Given the description of an element on the screen output the (x, y) to click on. 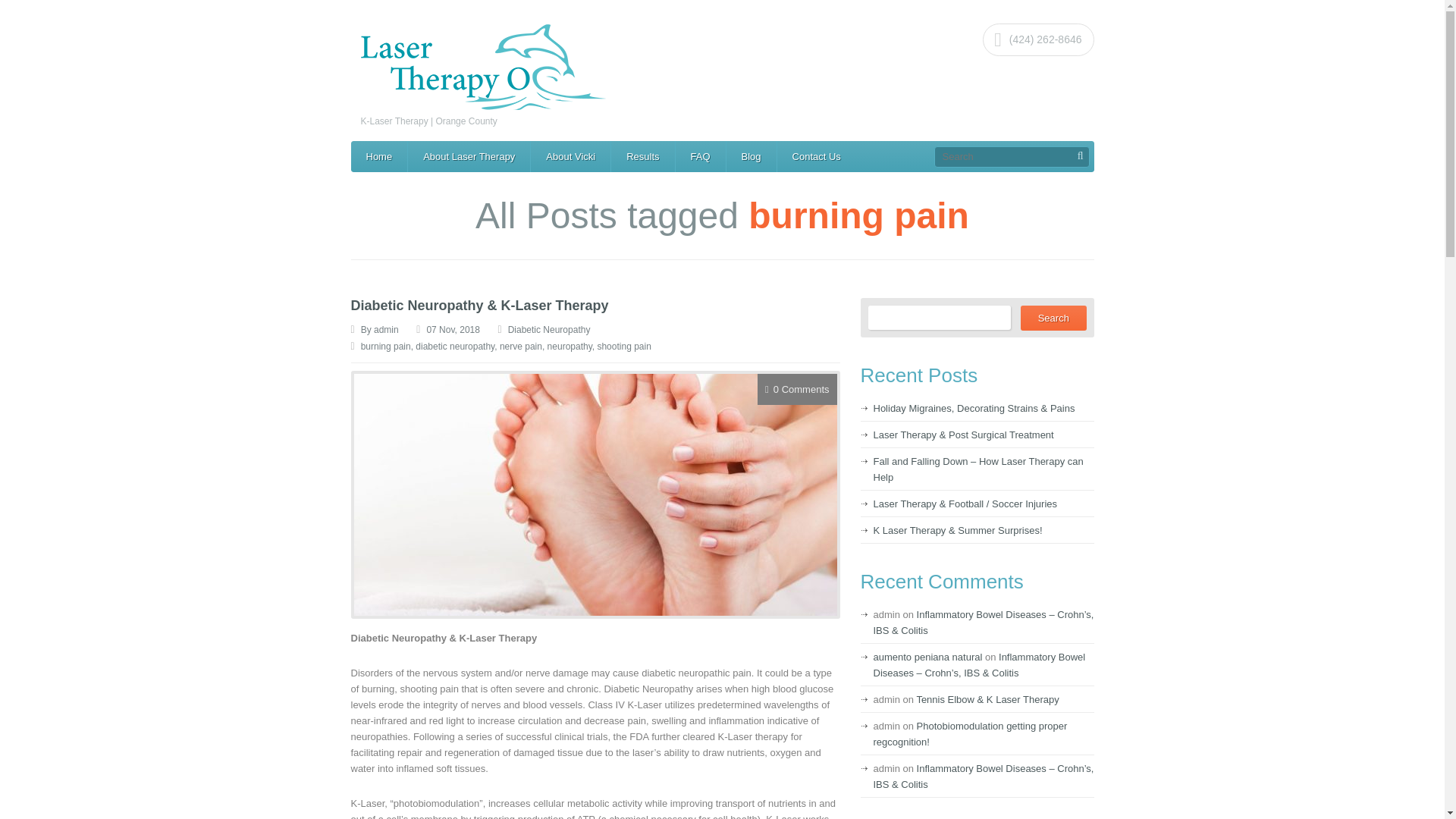
About Laser Therapy (468, 155)
shooting pain (623, 346)
0 Comments (801, 389)
admin (386, 329)
Posts by admin (386, 329)
Blog (751, 155)
Search (1053, 317)
nerve pain (520, 346)
Contact Us (816, 155)
Results (642, 155)
Photobiomodulation getting proper regcognition! (970, 733)
diabetic neuropathy (454, 346)
aumento peniana natural (927, 656)
FAQ (700, 155)
Home (378, 155)
